Given the description of an element on the screen output the (x, y) to click on. 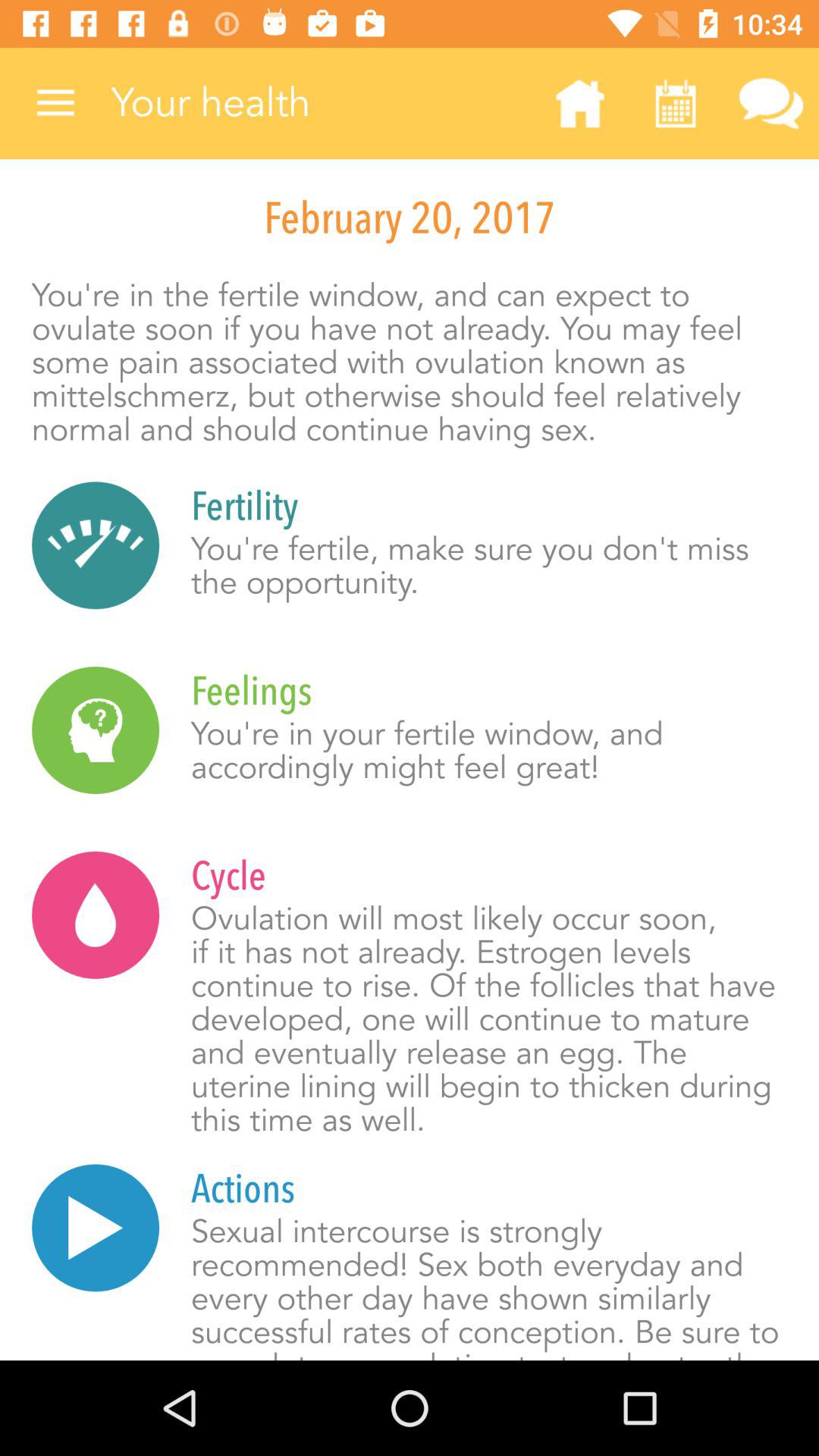
turn on icon above february 20, 2017 icon (771, 103)
